Given the description of an element on the screen output the (x, y) to click on. 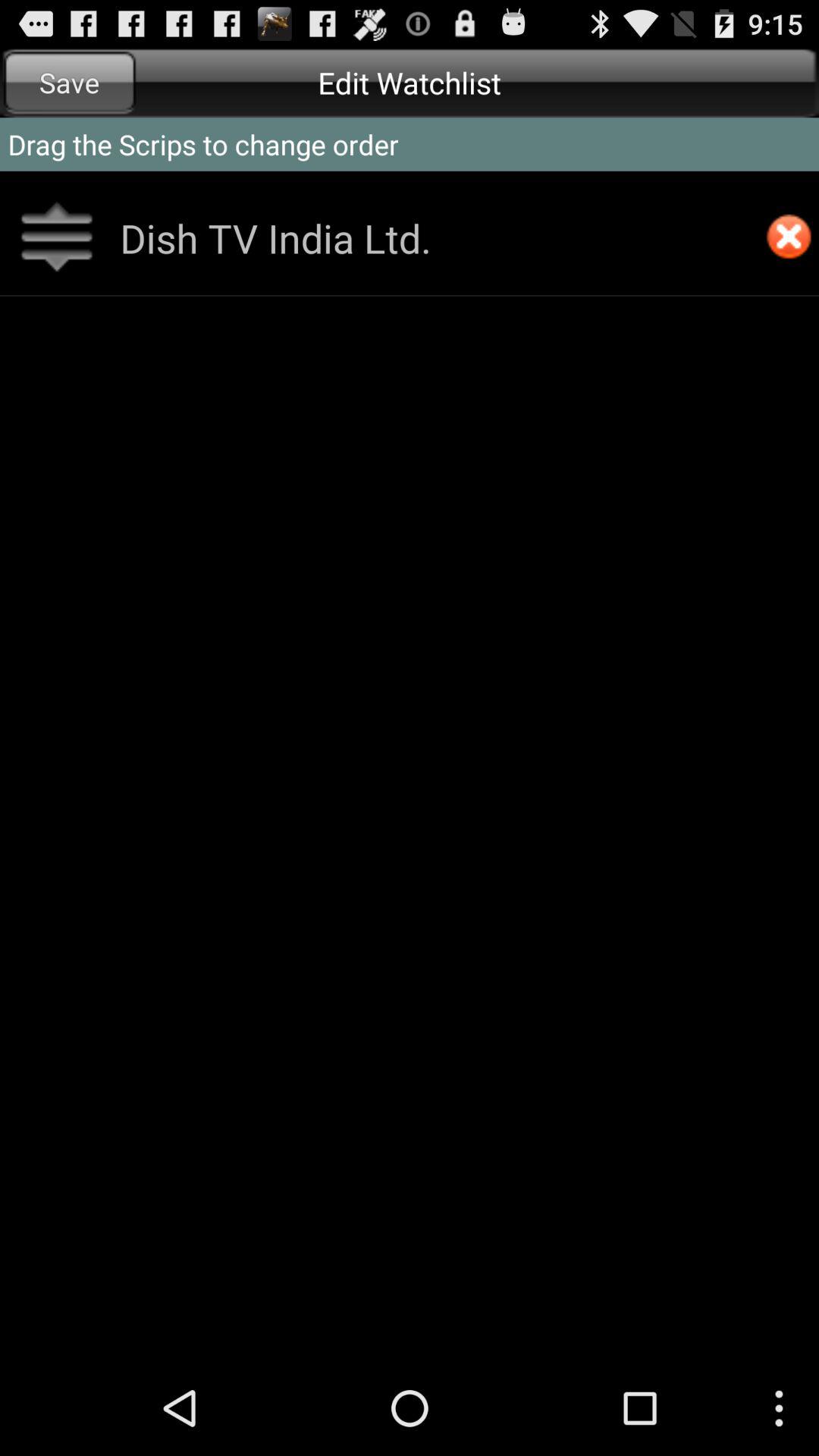
choose item to the left of edit watchlist (69, 82)
